Given the description of an element on the screen output the (x, y) to click on. 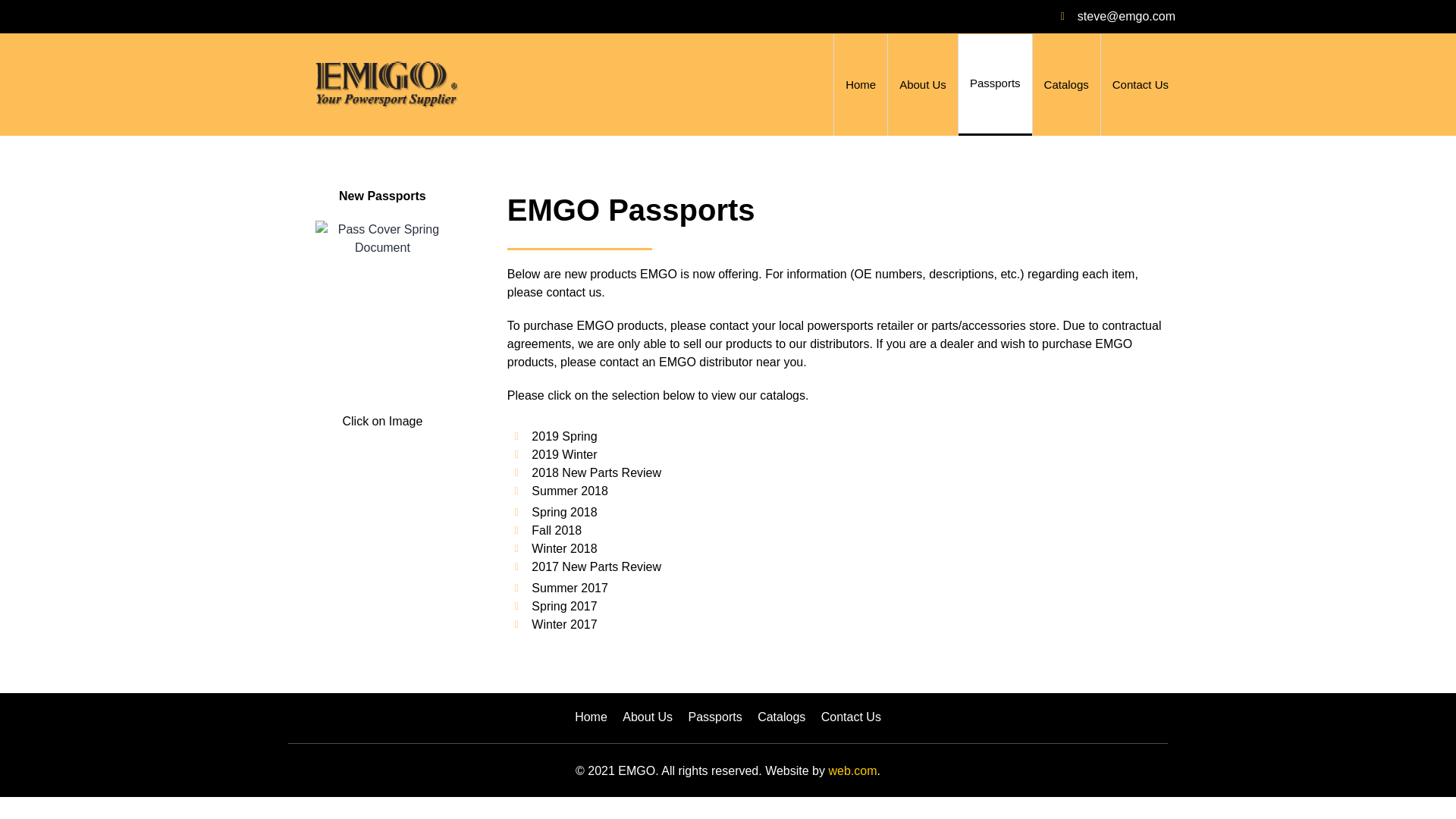
2018 New Parts Review (837, 473)
Contact Us (850, 717)
Catalogs (781, 717)
Passports (715, 717)
Winter 2017 (837, 624)
Fall 2018 (837, 530)
Home (591, 717)
web.com (852, 770)
Winter 2018 (837, 548)
2017 New Parts Review (837, 566)
